Given the description of an element on the screen output the (x, y) to click on. 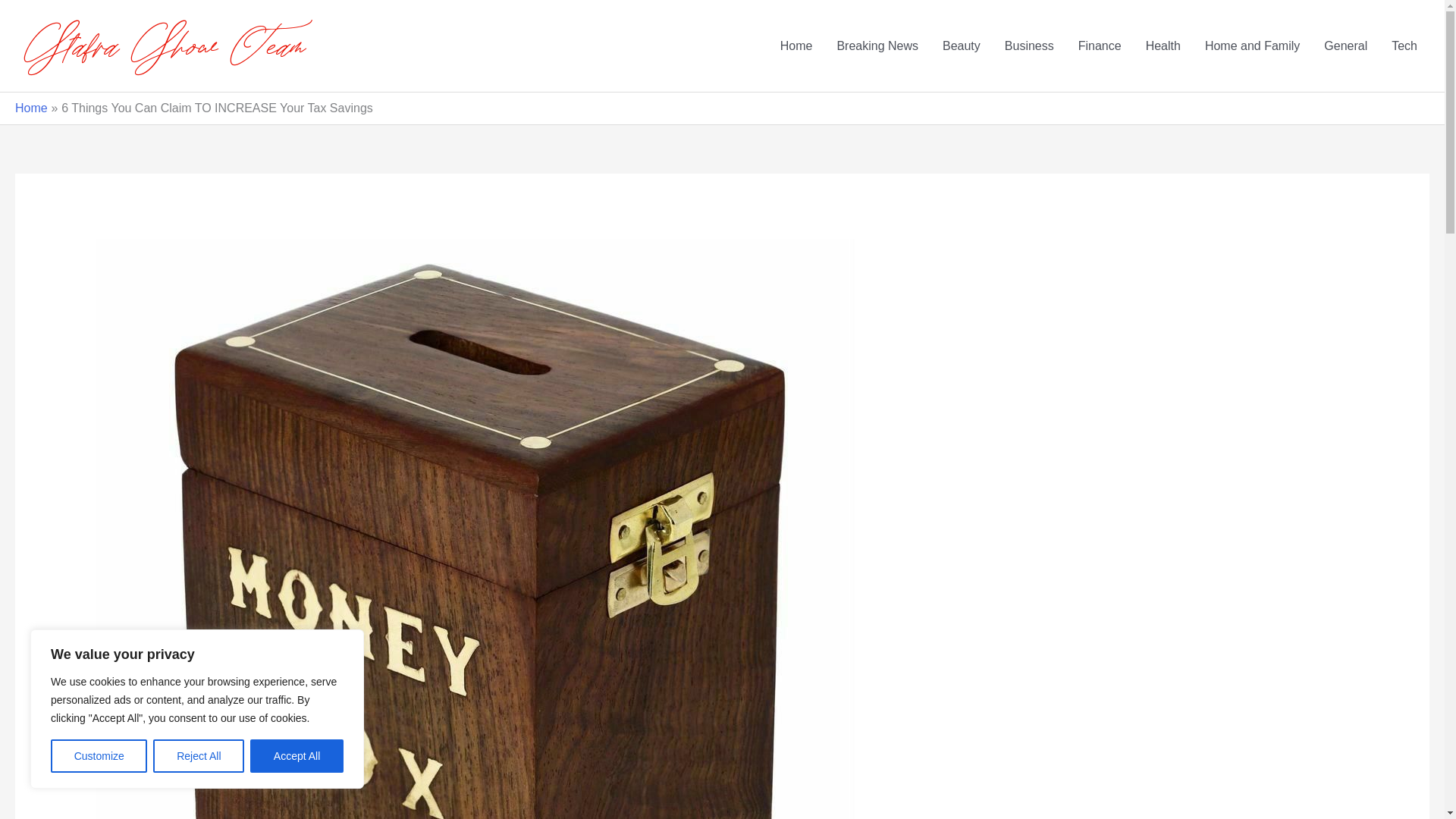
Business (1028, 45)
Tech (1403, 45)
Finance (1099, 45)
Home (796, 45)
General (1344, 45)
Customize (98, 756)
Accept All (296, 756)
Home (31, 107)
Health (1163, 45)
Reject All (198, 756)
Home and Family (1251, 45)
Beauty (961, 45)
Breaking News (877, 45)
